Given the description of an element on the screen output the (x, y) to click on. 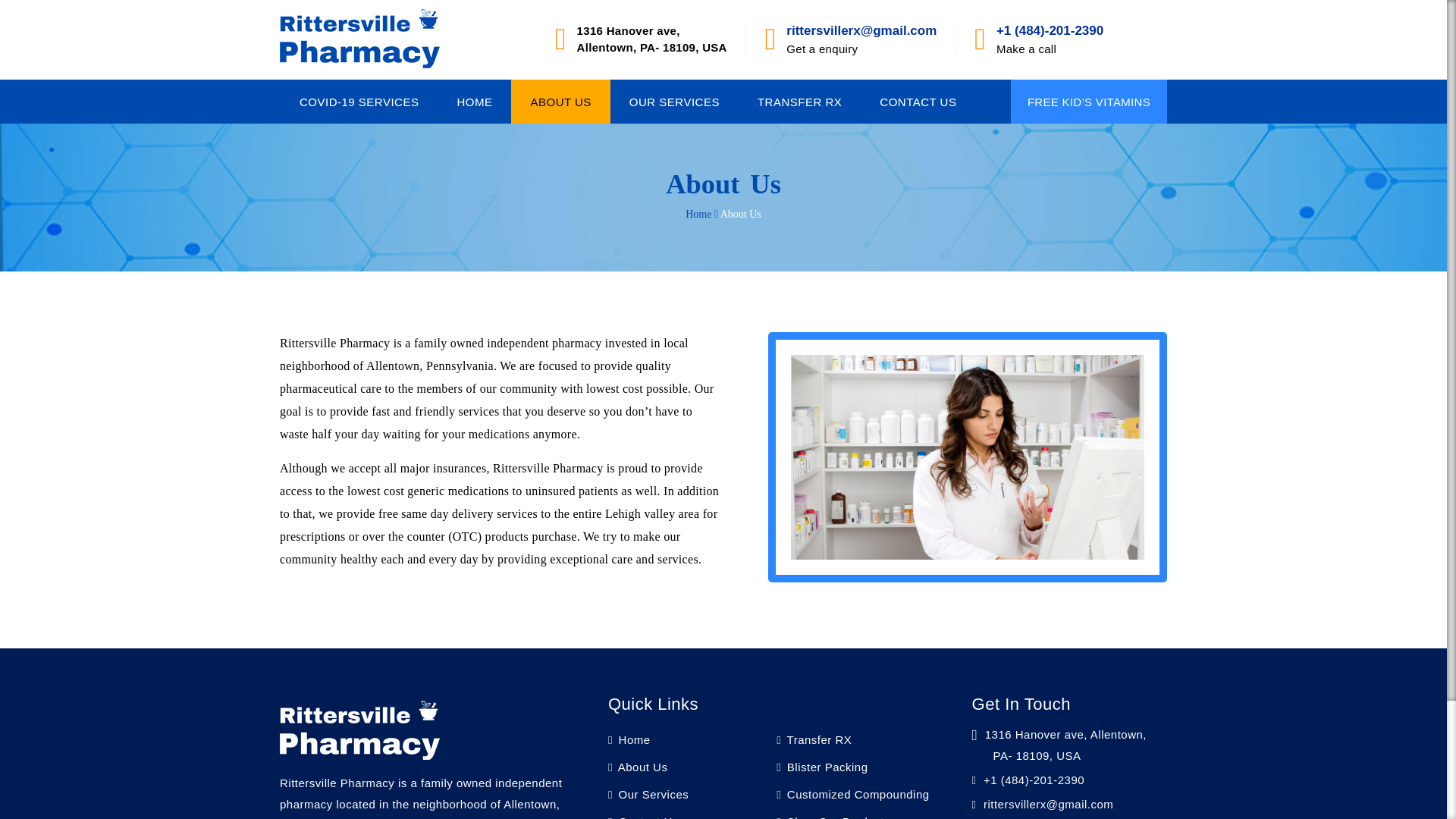
CONTACT US (917, 101)
Blister Packing (821, 766)
Transfer RX (813, 739)
COVID-19 SERVICES (359, 101)
Customized Compounding (852, 793)
Home (698, 214)
Home (629, 739)
About Us (638, 766)
Our Services (648, 793)
Contact Us (643, 816)
